Given the description of an element on the screen output the (x, y) to click on. 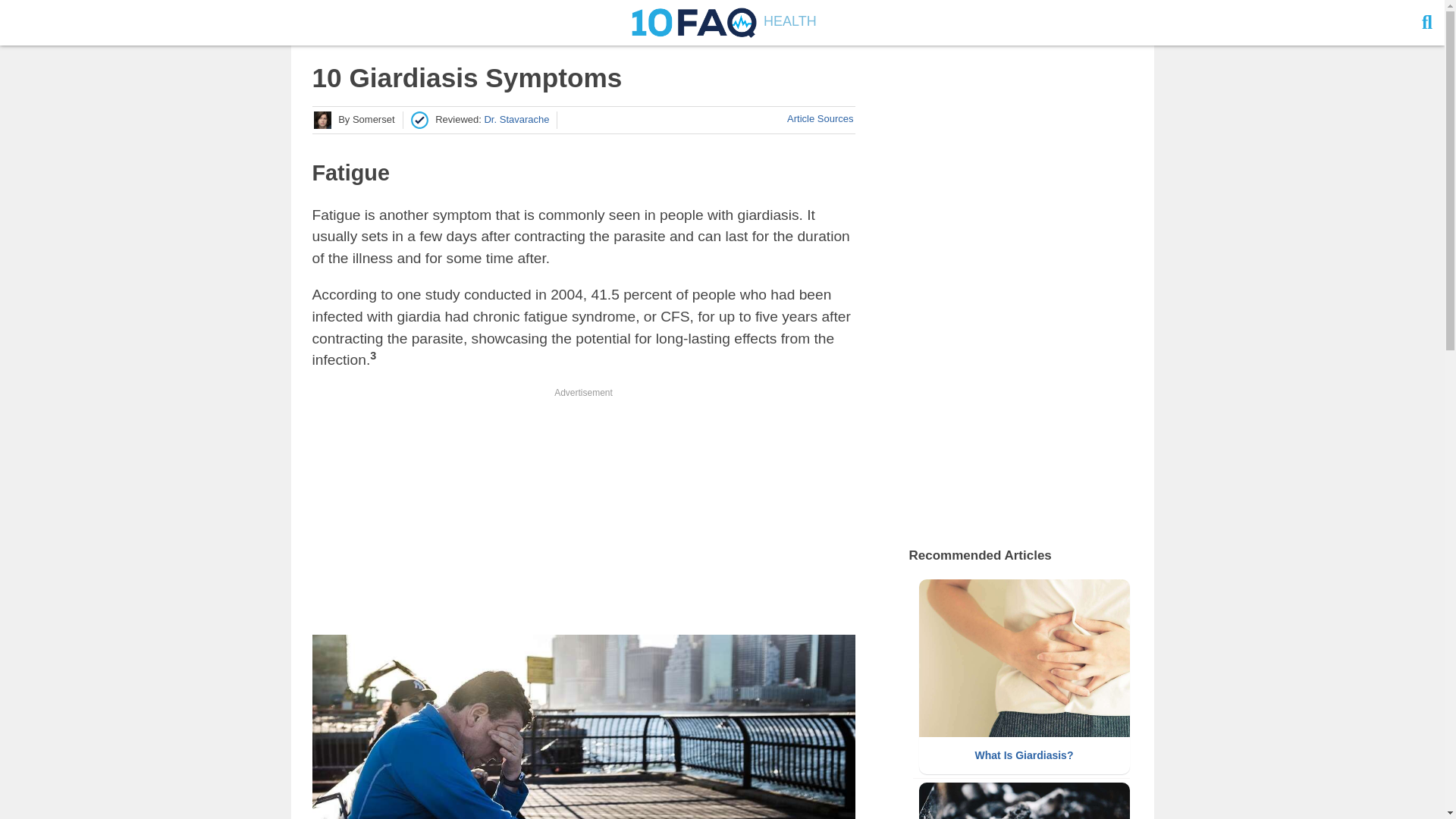
Advertisement (584, 505)
Article Sources (820, 118)
What Is Giardiasis? (1023, 676)
Dr. Stavarache (515, 119)
HEALTH (721, 21)
Melena Stool Definition, Causes and More (1023, 800)
